Given the description of an element on the screen output the (x, y) to click on. 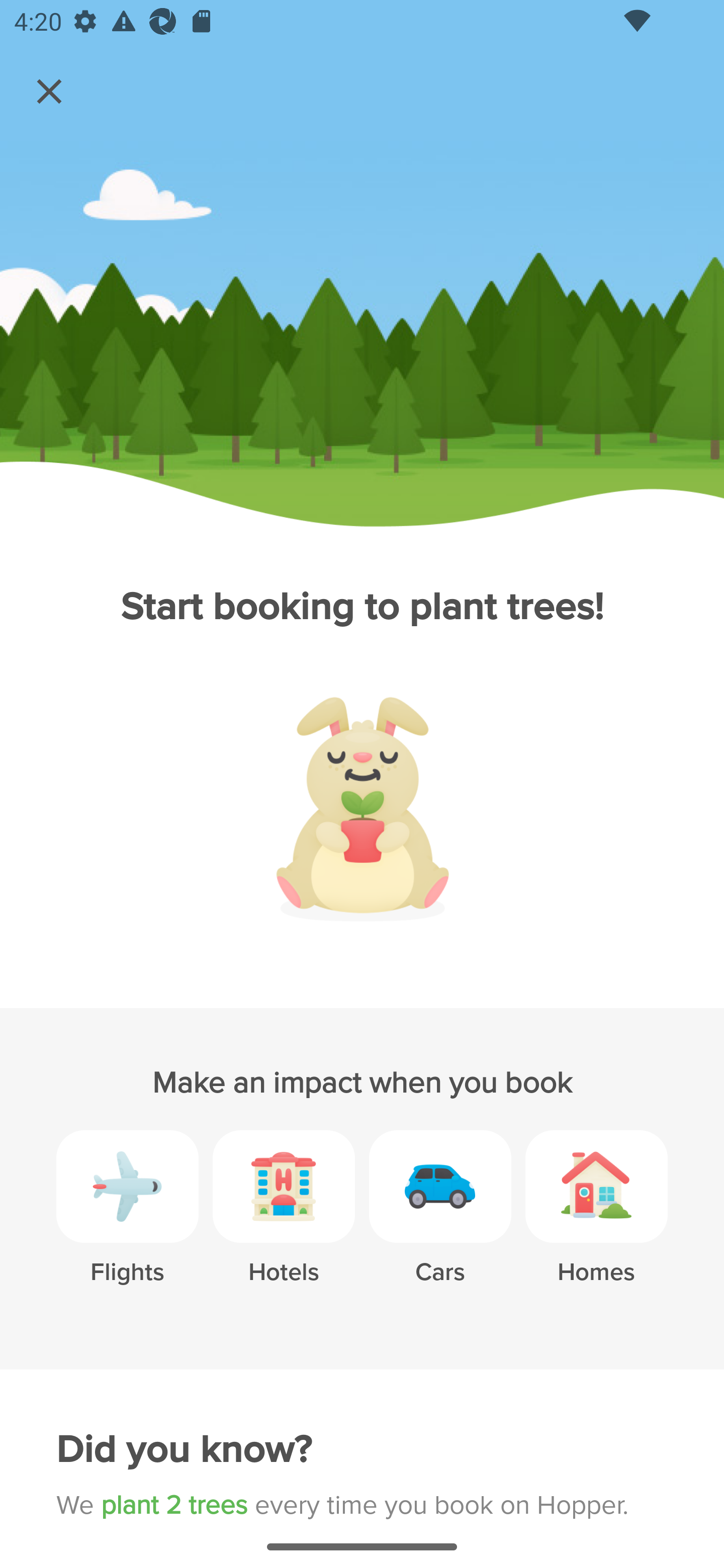
Navigate up (49, 91)
Flights (127, 1221)
Hotels (283, 1221)
Cars (440, 1221)
Homes (596, 1221)
